Given the description of an element on the screen output the (x, y) to click on. 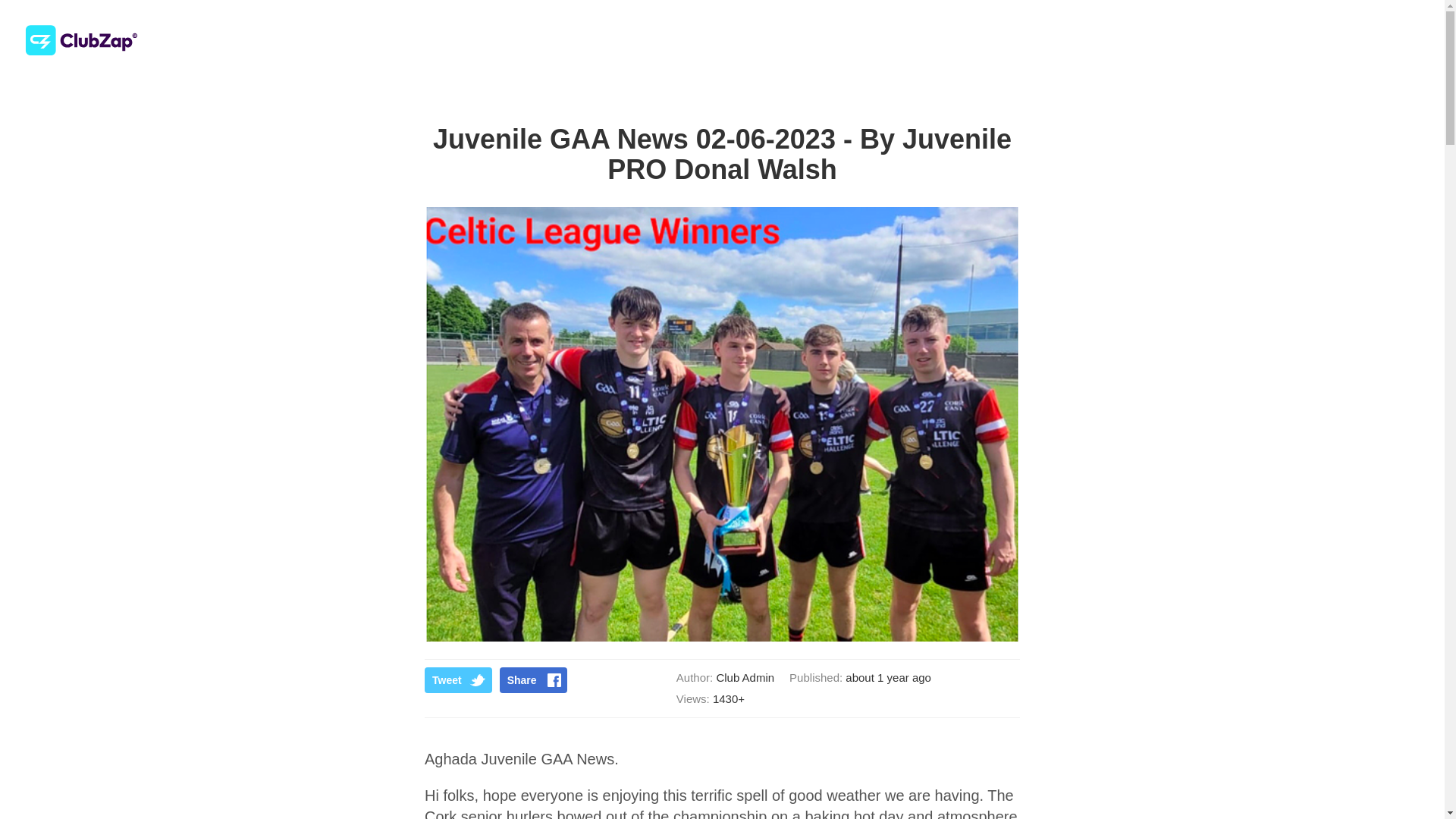
Tweet (458, 679)
Share (533, 679)
